Given the description of an element on the screen output the (x, y) to click on. 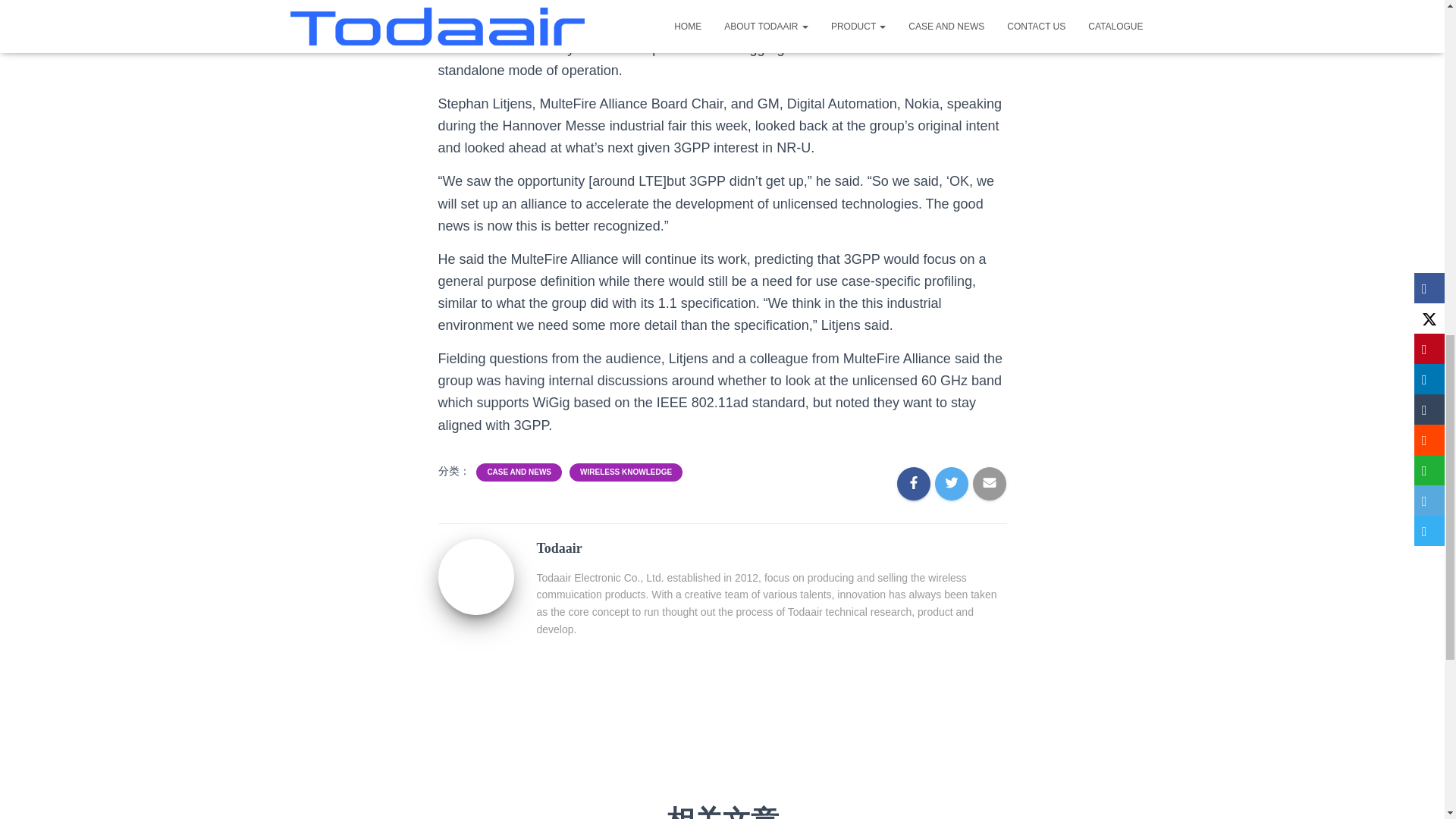
CASE AND NEWS (518, 471)
WIRELESS KNOWLEDGE (625, 471)
Todaair (475, 575)
